Given the description of an element on the screen output the (x, y) to click on. 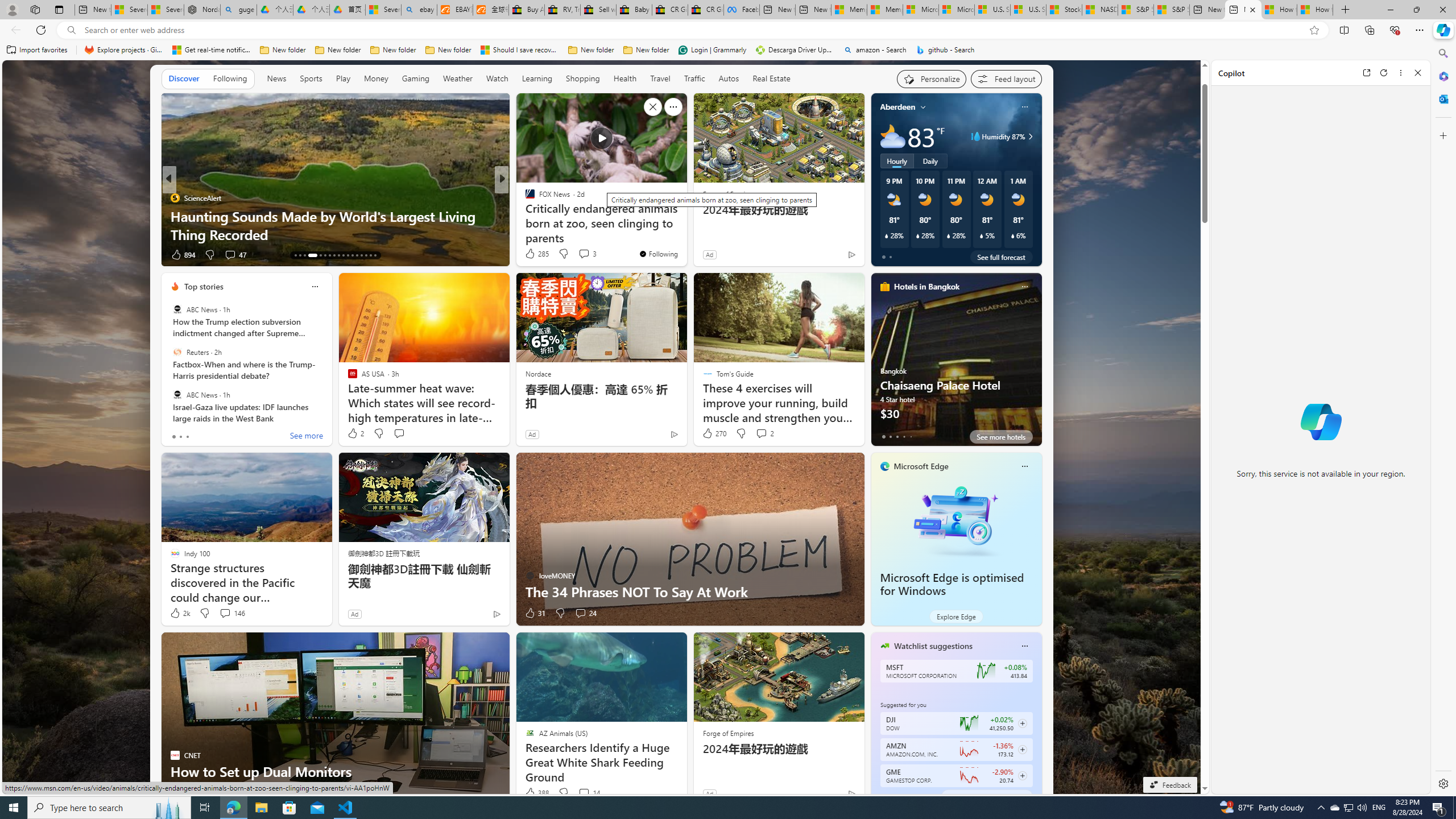
Mostly cloudy (892, 136)
Learning (536, 78)
View comments 6 Comment (583, 254)
Following (229, 78)
Real Estate (771, 78)
AutomationID: tab-16 (309, 255)
Start the conversation (225, 792)
